Given the description of an element on the screen output the (x, y) to click on. 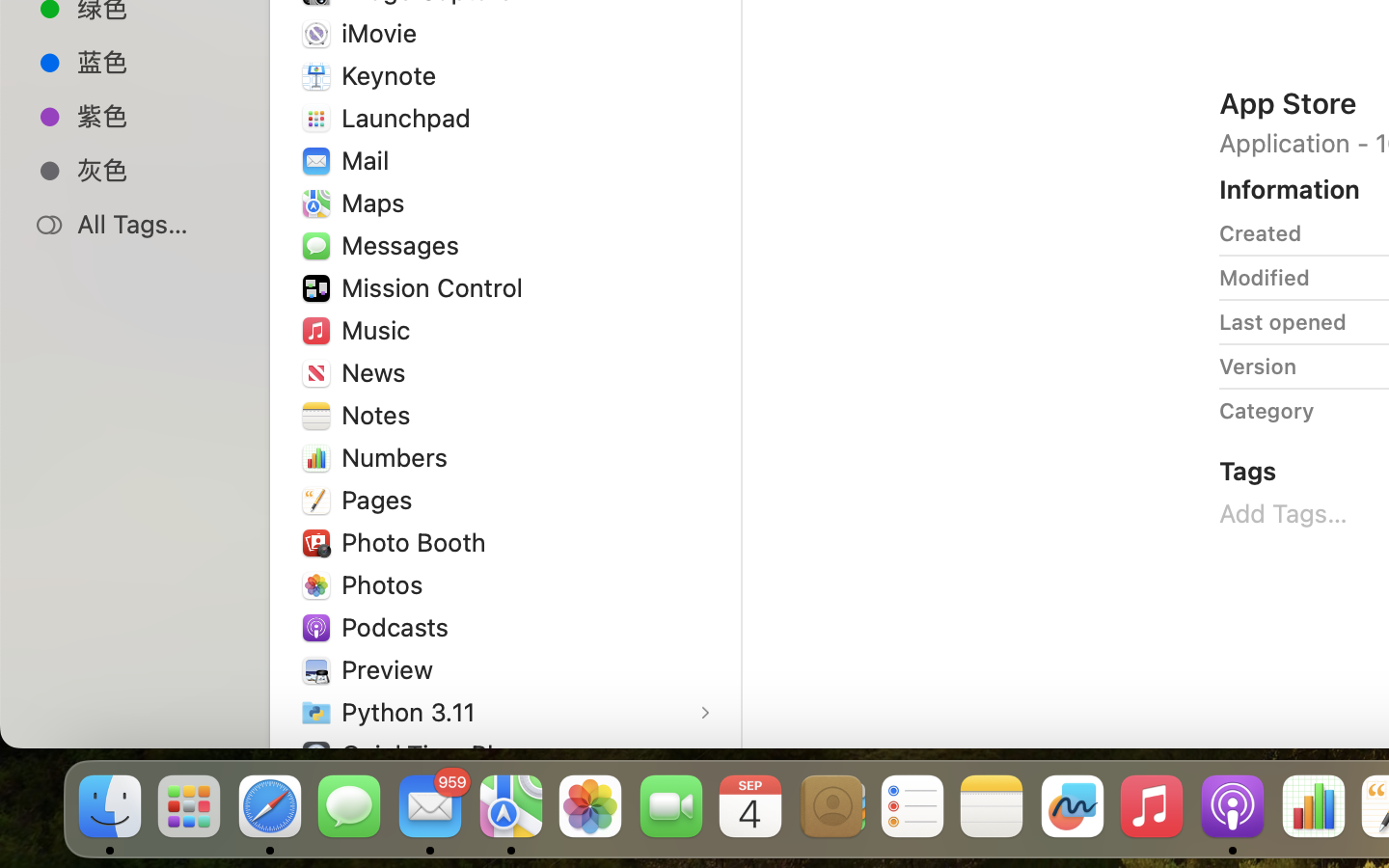
Photos Element type: AXTextField (386, 584)
Messages Element type: AXTextField (403, 244)
Podcasts Element type: AXTextField (399, 626)
Numbers Element type: AXTextField (399, 456)
Mission Control Element type: AXTextField (436, 286)
